Given the description of an element on the screen output the (x, y) to click on. 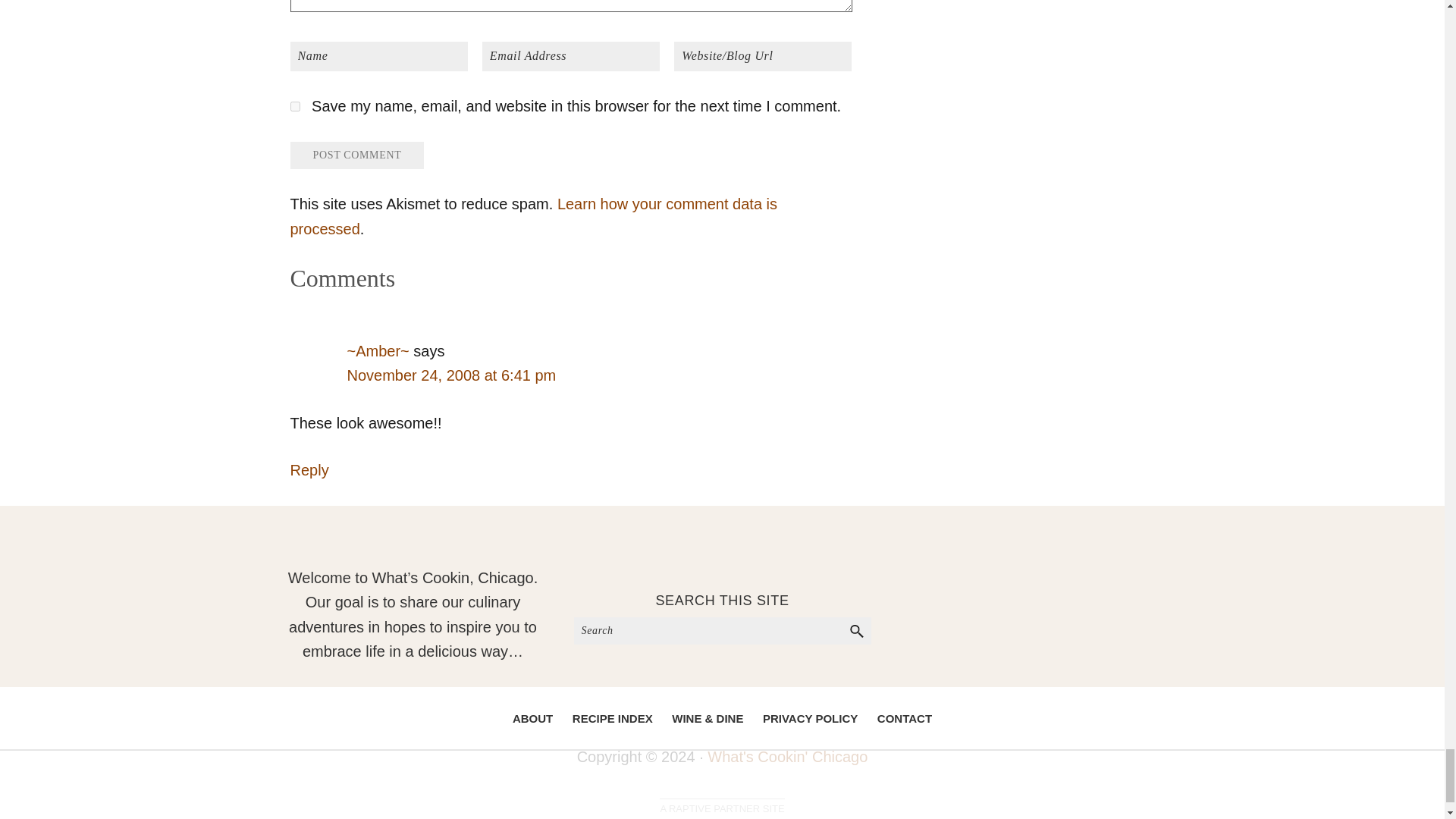
Post Comment (356, 154)
yes (294, 106)
